Given the description of an element on the screen output the (x, y) to click on. 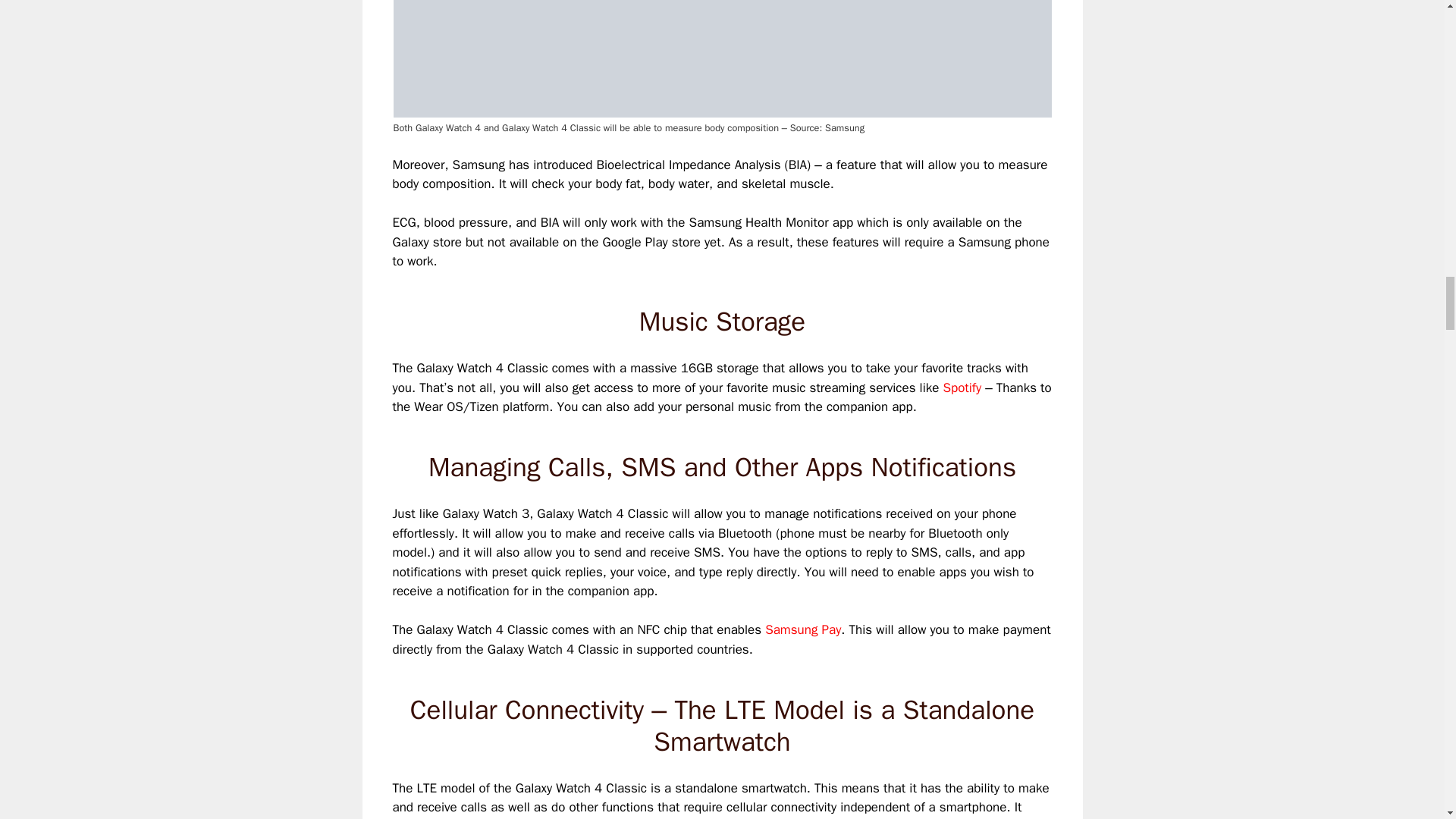
Spotify (961, 387)
Samsung Pay (803, 629)
